Given the description of an element on the screen output the (x, y) to click on. 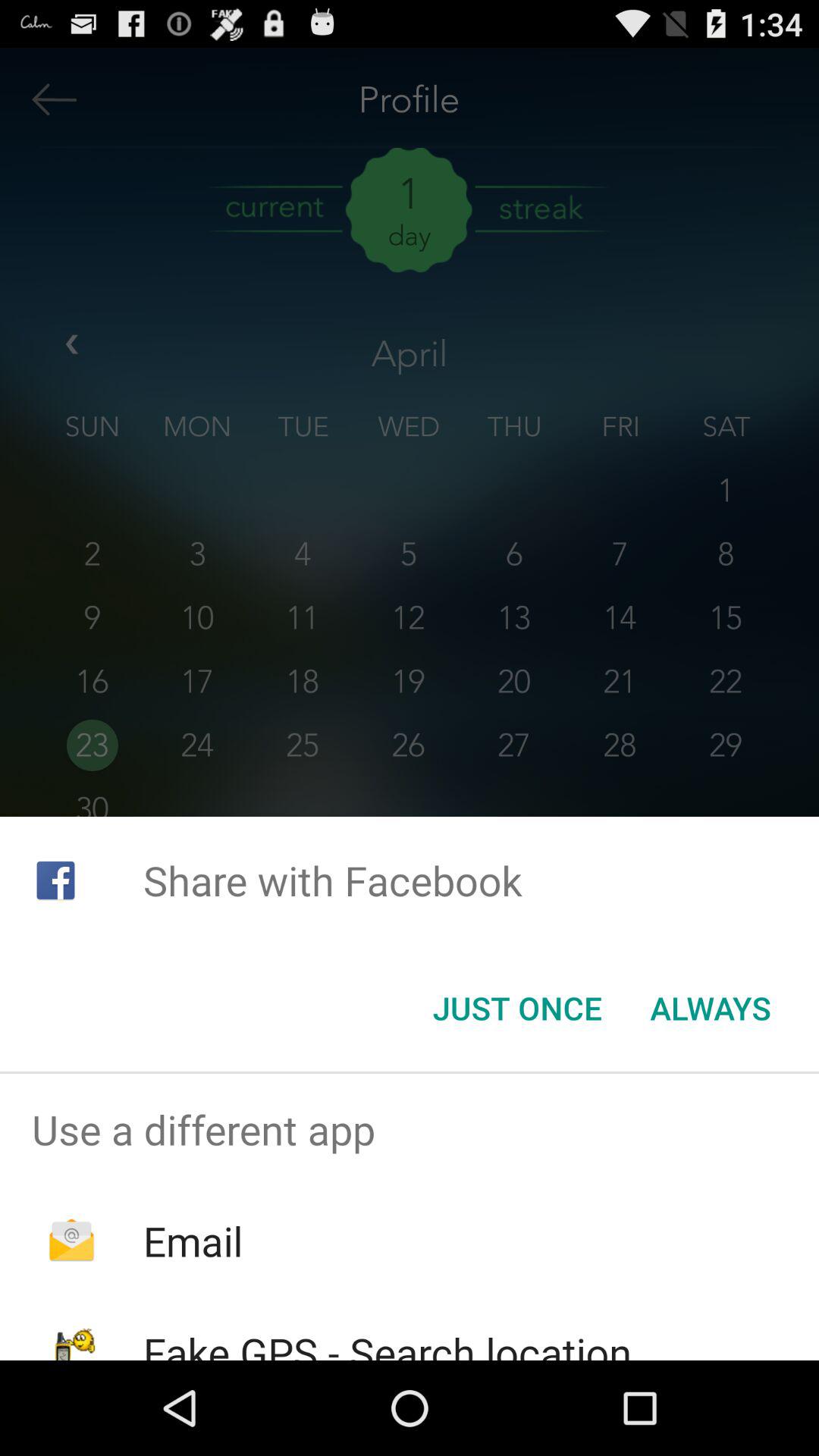
choose the use a different (409, 1129)
